Given the description of an element on the screen output the (x, y) to click on. 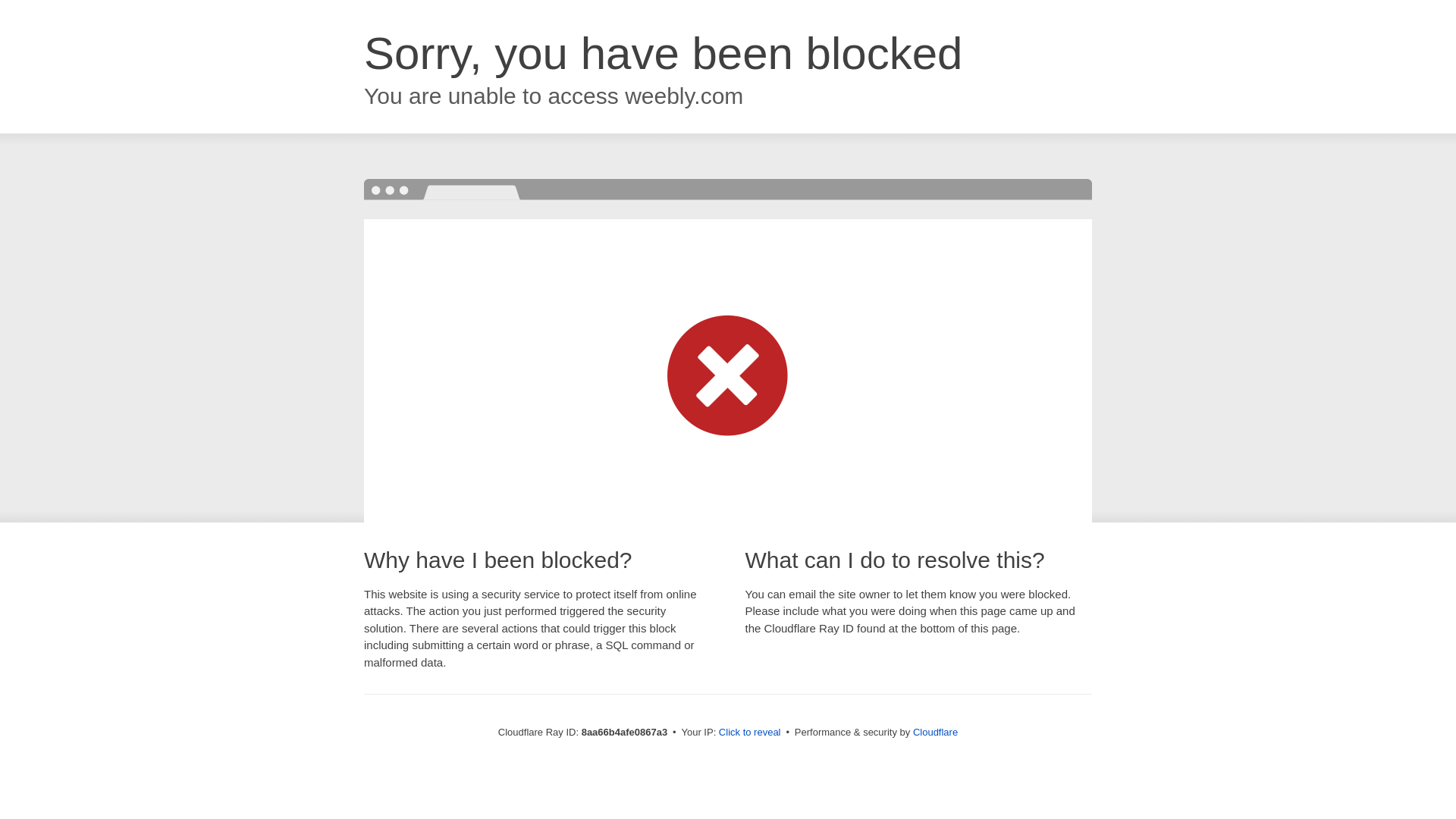
Cloudflare (935, 731)
Click to reveal (749, 732)
